Given the description of an element on the screen output the (x, y) to click on. 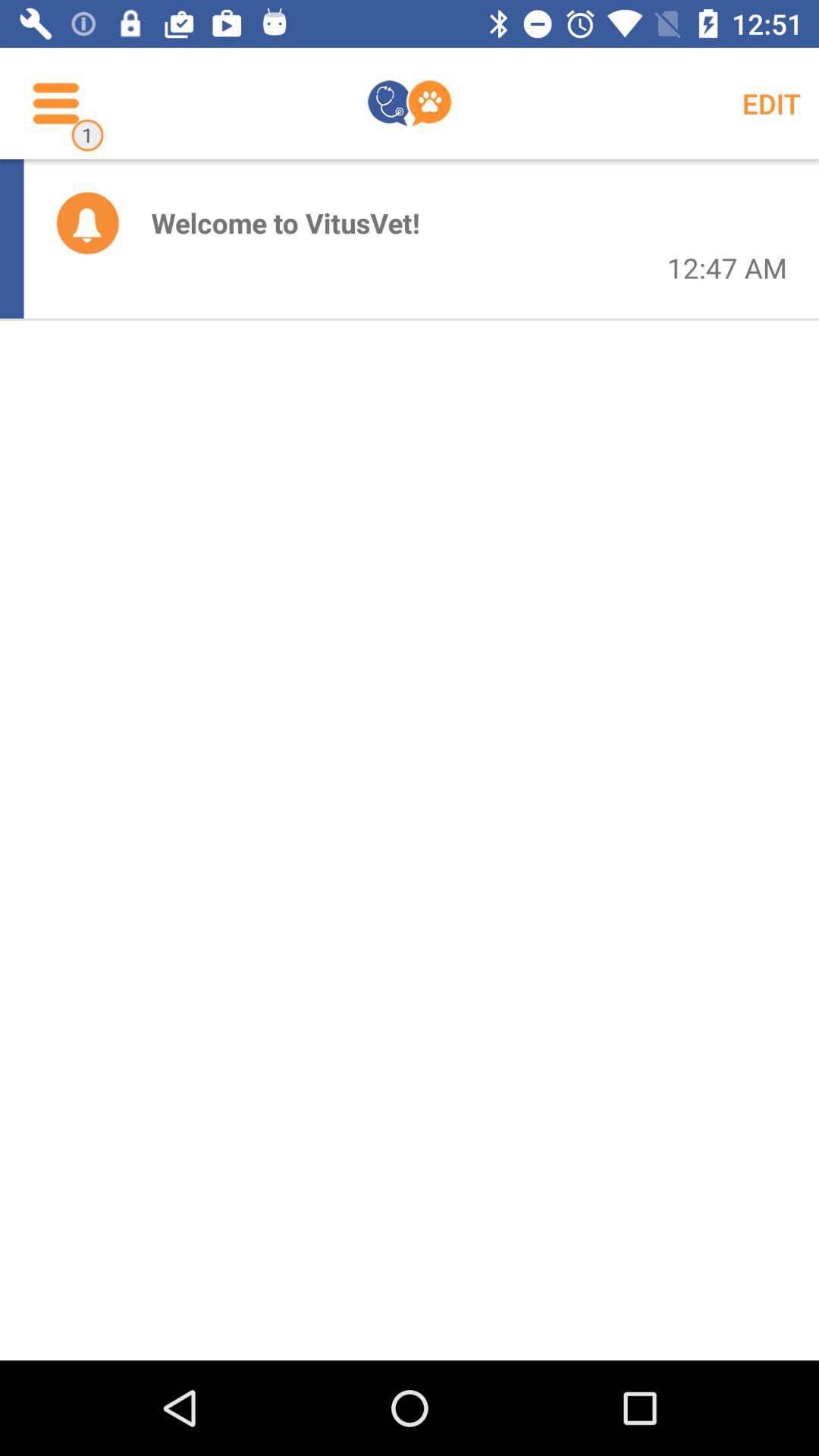
swipe to the 12:47 am (727, 267)
